Given the description of an element on the screen output the (x, y) to click on. 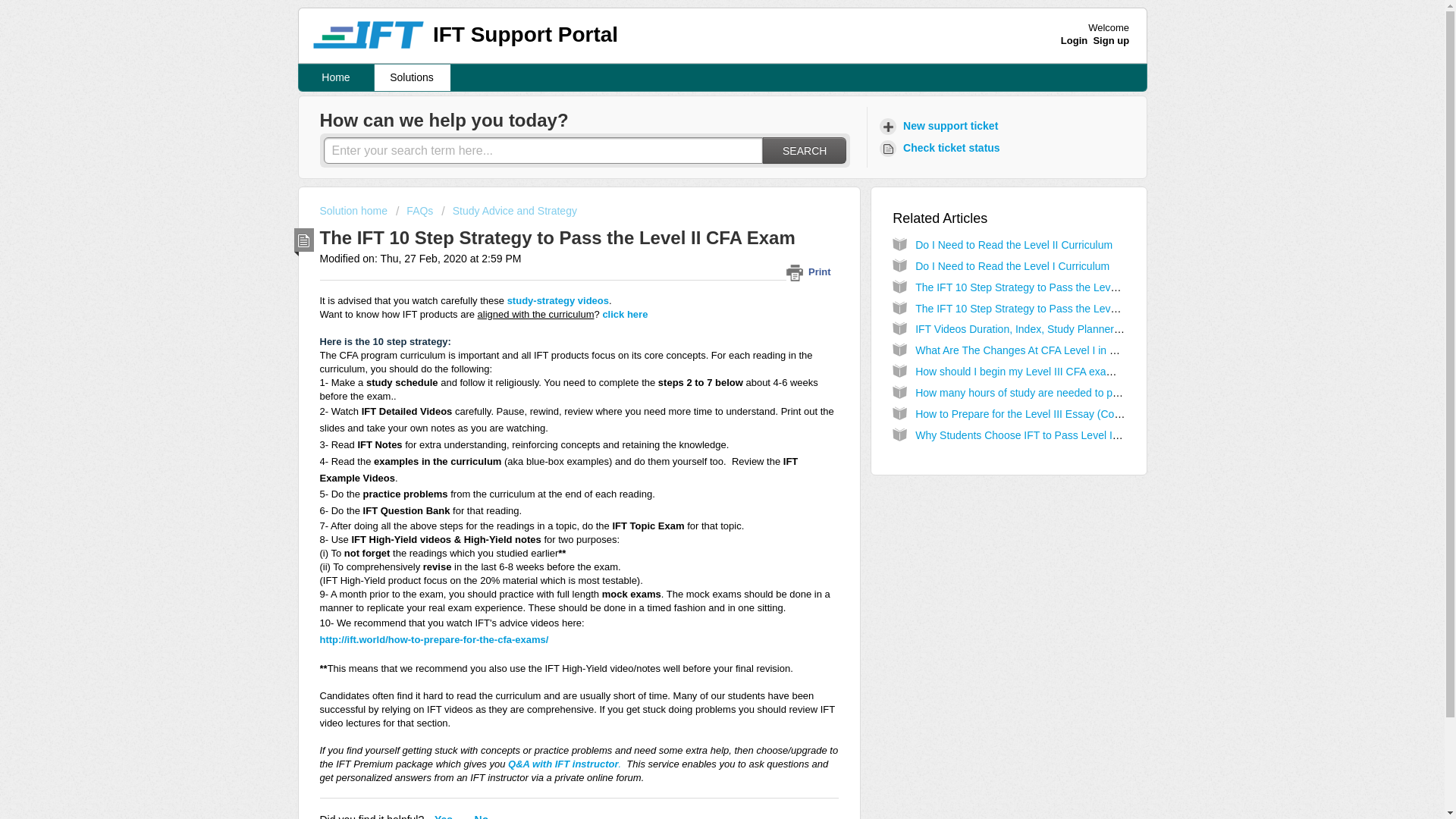
Home (336, 77)
FAQs (414, 210)
Login (1074, 40)
The IFT 10 Step Strategy to Pass the Level III CFA Exam (1049, 287)
Check ticket status (941, 147)
Print this Article (812, 271)
study-strategy videos (557, 300)
Sign up (1111, 40)
Check ticket status (941, 147)
New support ticket (940, 126)
